Given the description of an element on the screen output the (x, y) to click on. 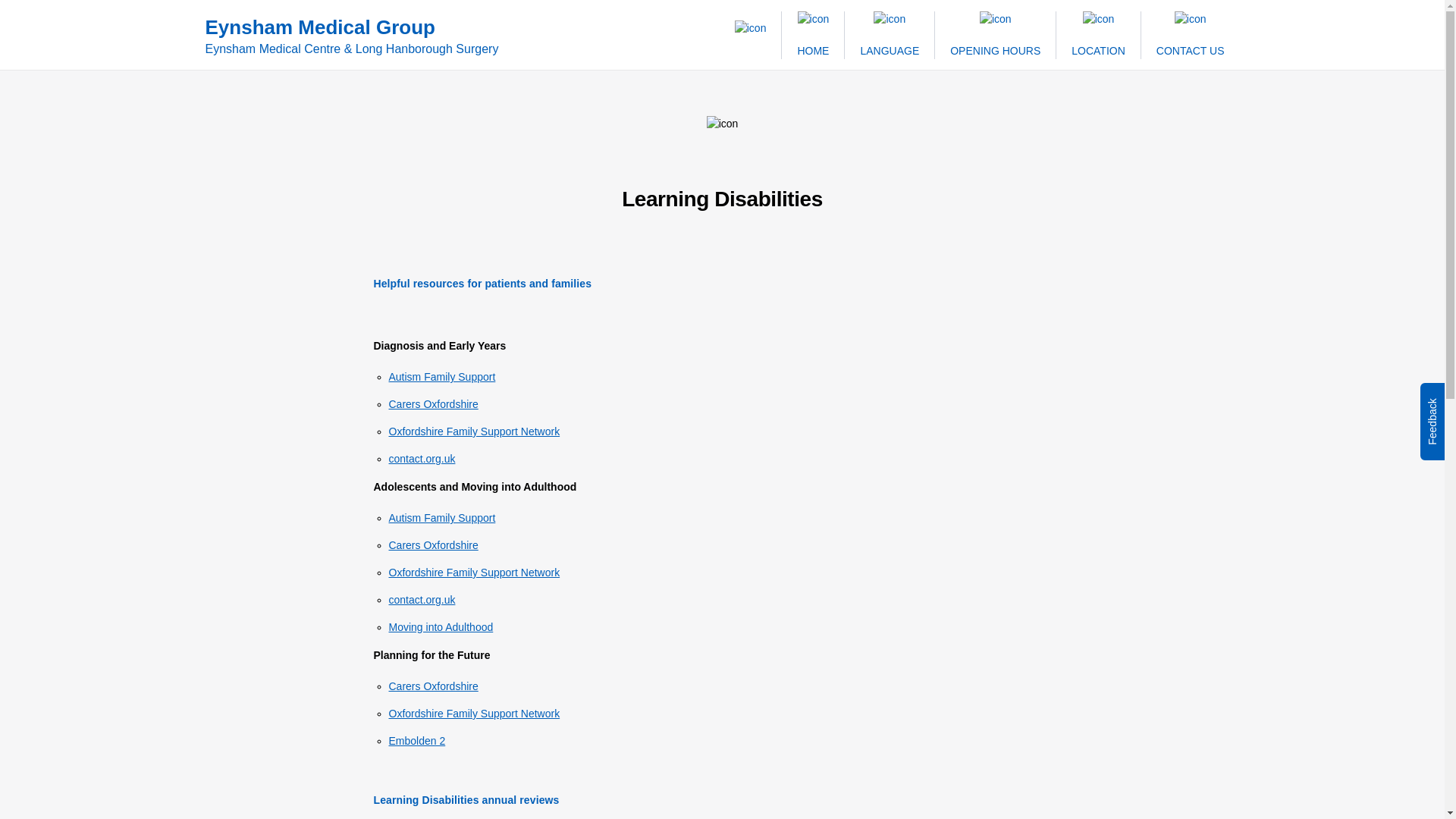
Oxfordshire Family Support Network (473, 431)
contact.org.uk (421, 599)
Carers Oxfordshire (432, 404)
CONTACT US (1190, 34)
Autism Family Support (441, 517)
OPENING HOURS (994, 34)
Embolden 2 (416, 740)
LANGUAGE (889, 34)
Carers Oxfordshire (432, 544)
LOCATION (1097, 34)
